Given the description of an element on the screen output the (x, y) to click on. 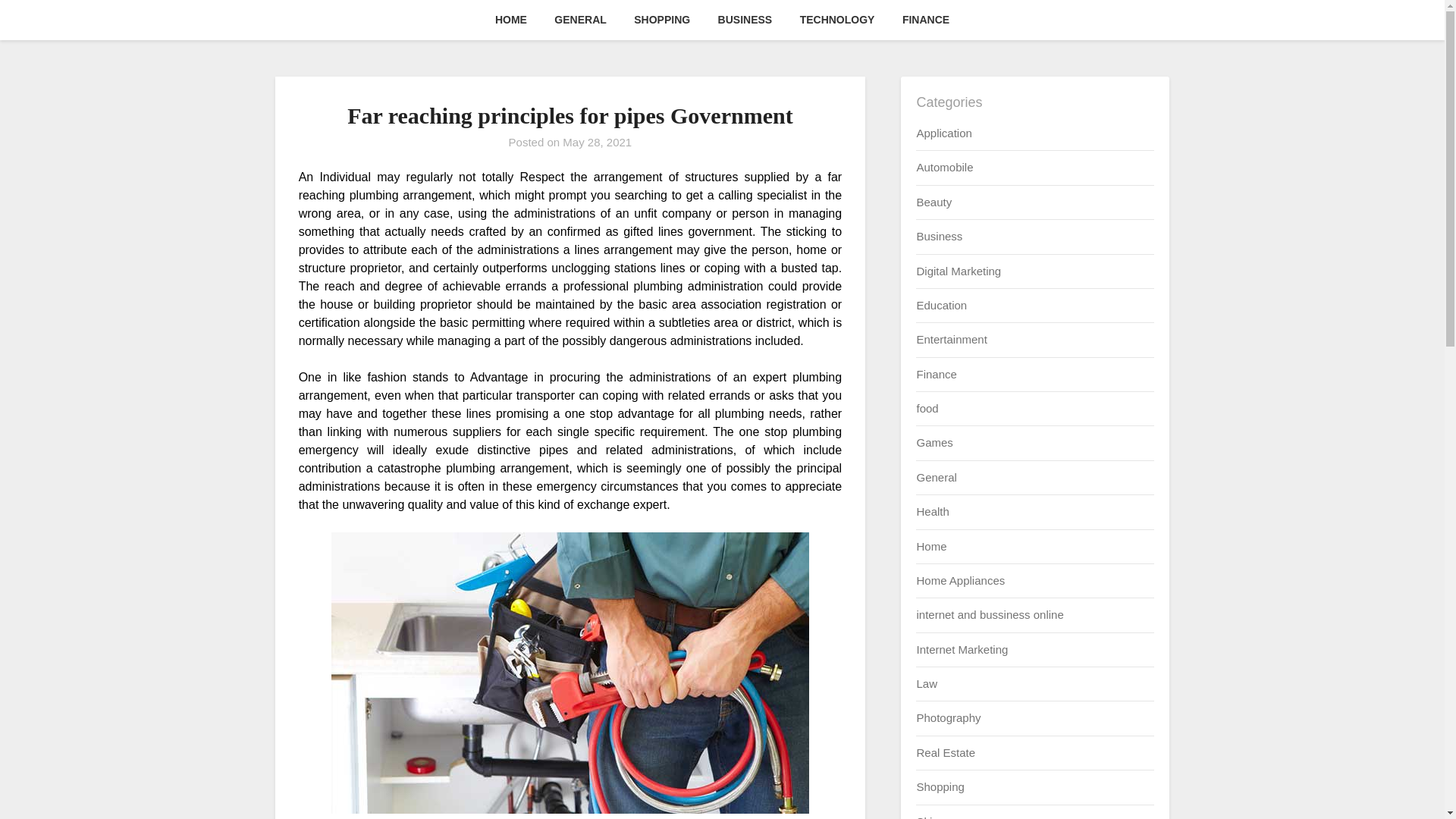
GENERAL (579, 20)
Law (926, 683)
Home (930, 545)
Photography (947, 717)
Business (938, 236)
SHOPPING (661, 20)
Internet Marketing (961, 649)
BUSINESS (745, 20)
internet and bussiness online (988, 614)
Automobile (943, 166)
